Given the description of an element on the screen output the (x, y) to click on. 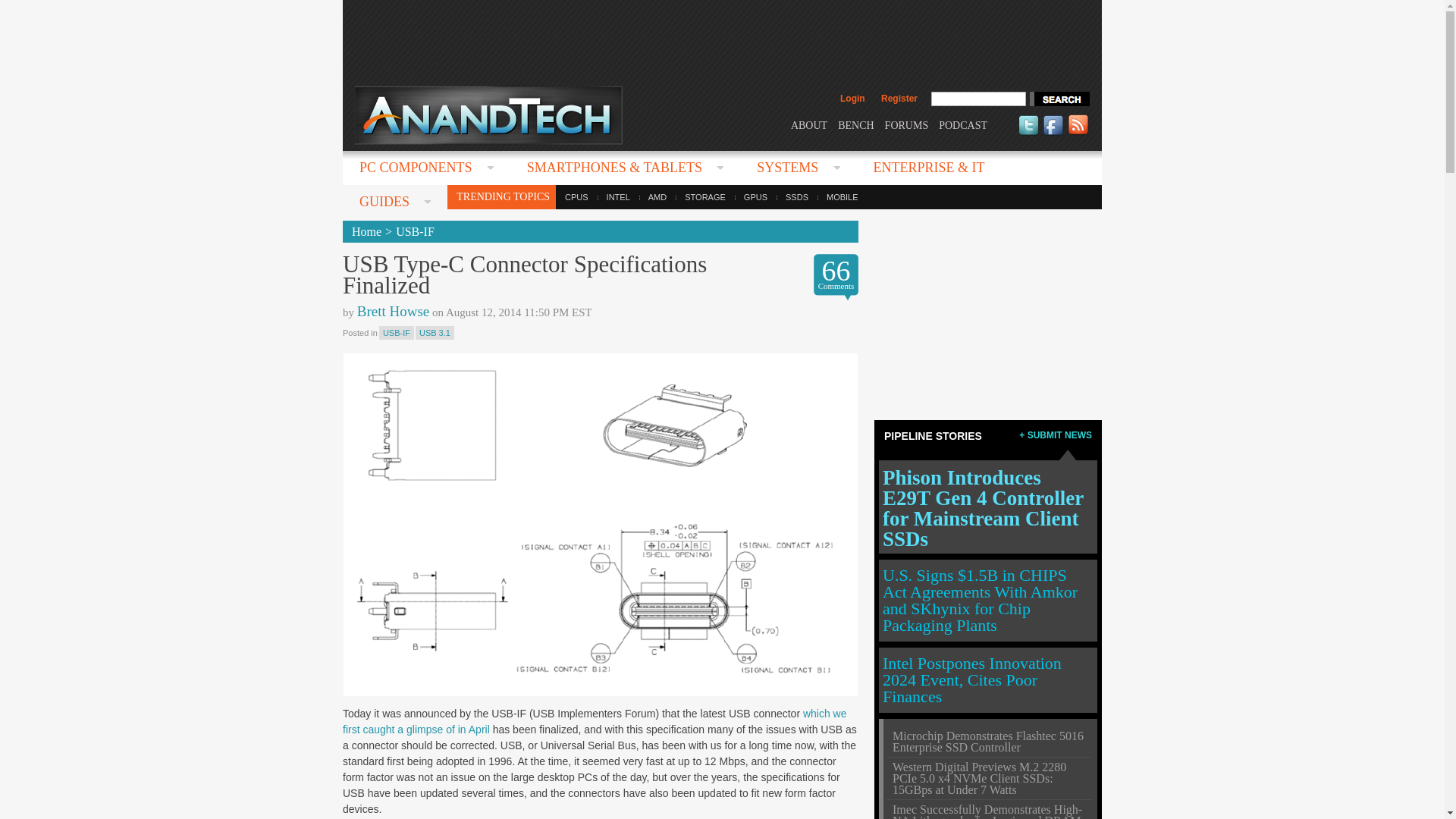
Login (852, 98)
search (1059, 98)
PODCAST (963, 125)
FORUMS (906, 125)
BENCH (855, 125)
Register (898, 98)
search (1059, 98)
ABOUT (808, 125)
search (1059, 98)
